Given the description of an element on the screen output the (x, y) to click on. 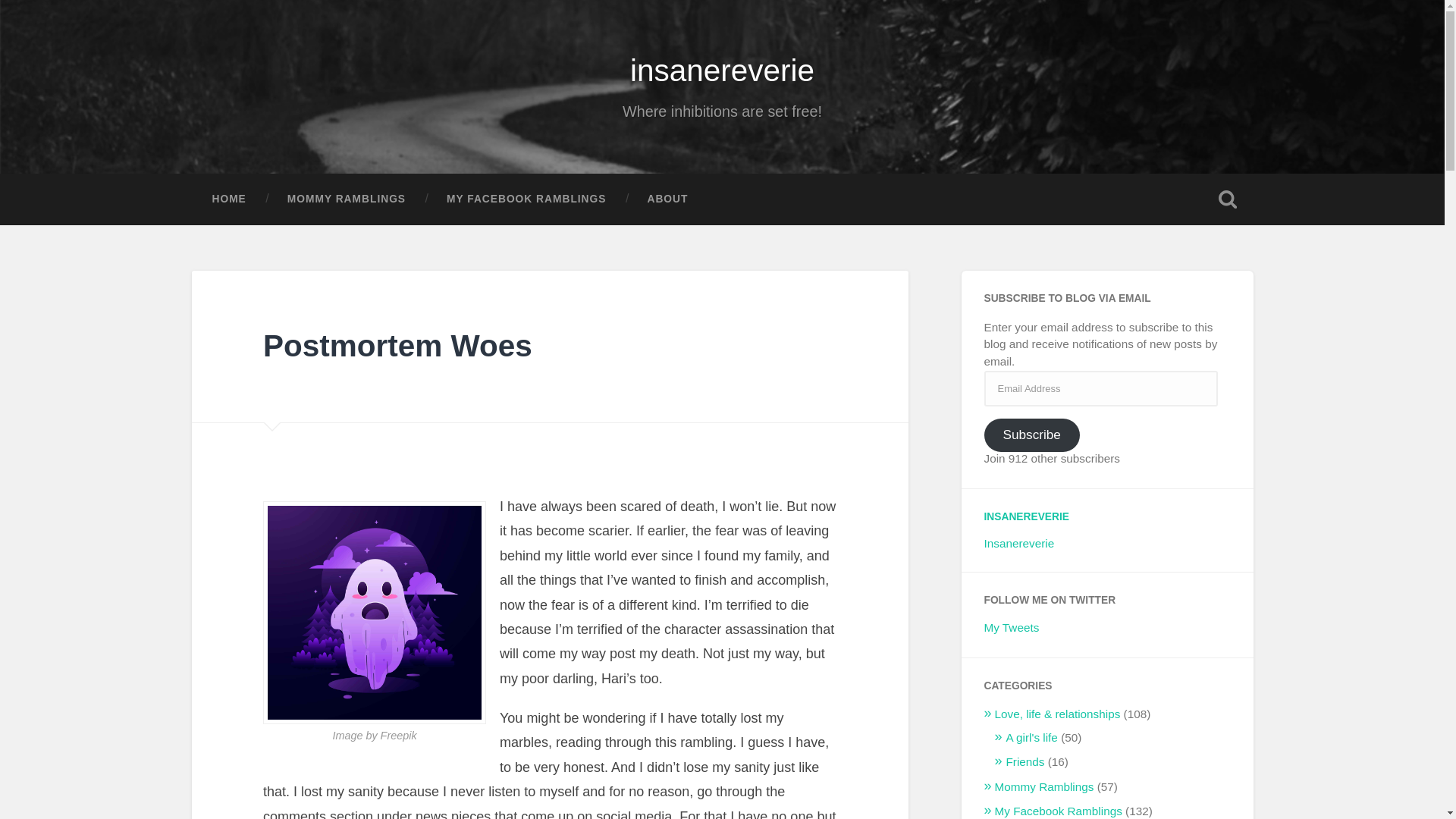
MY FACEBOOK RAMBLINGS (526, 199)
insanereverie (721, 70)
Postmortem Woes (397, 345)
MOMMY RAMBLINGS (346, 199)
INSANEREVERIE (1026, 516)
My Tweets (1011, 626)
Subscribe (1032, 435)
HOME (228, 199)
A girl's life (1031, 737)
ABOUT (666, 199)
Insanereverie (1019, 543)
